Given the description of an element on the screen output the (x, y) to click on. 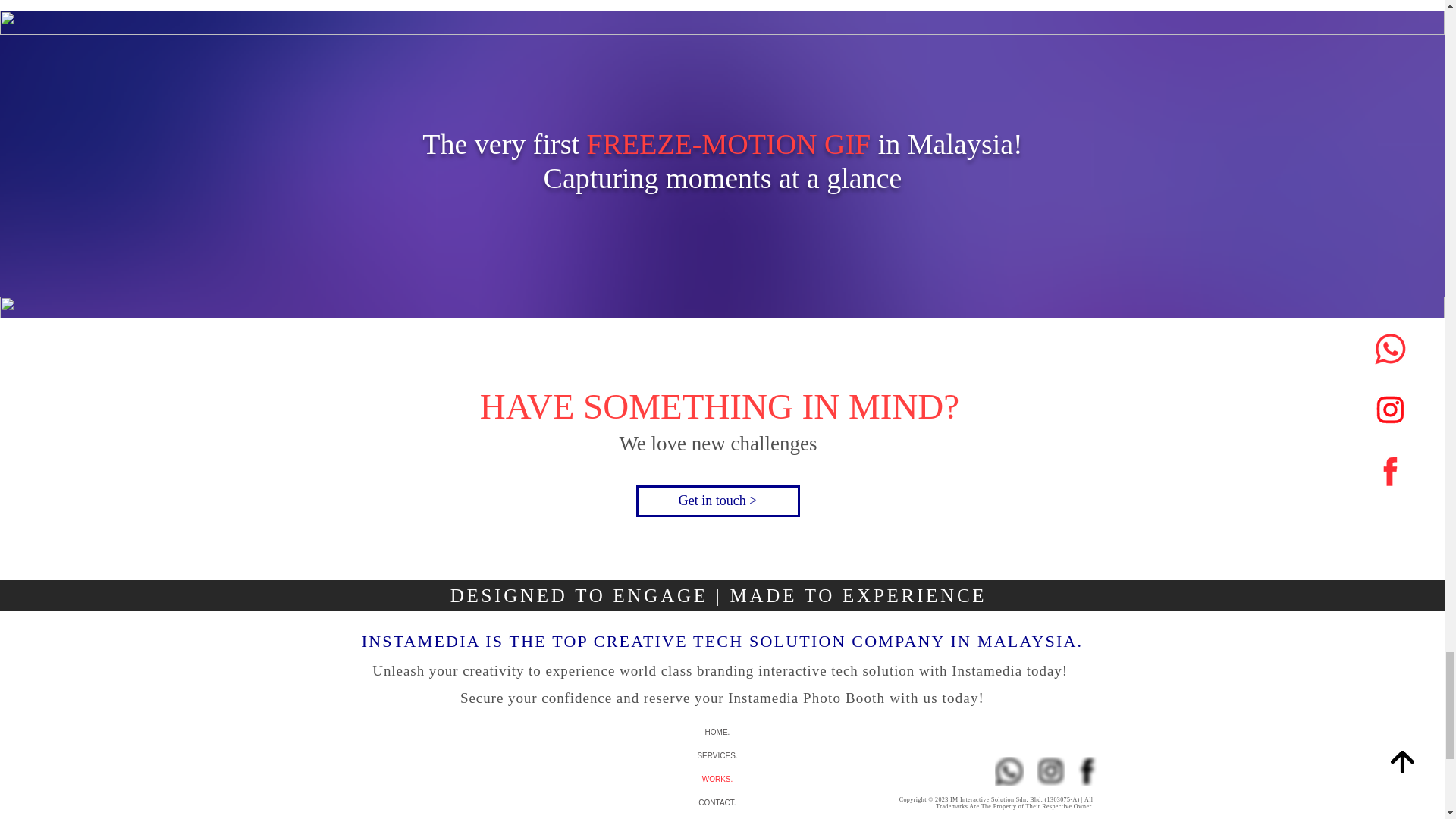
HOME. (717, 731)
